Given the description of an element on the screen output the (x, y) to click on. 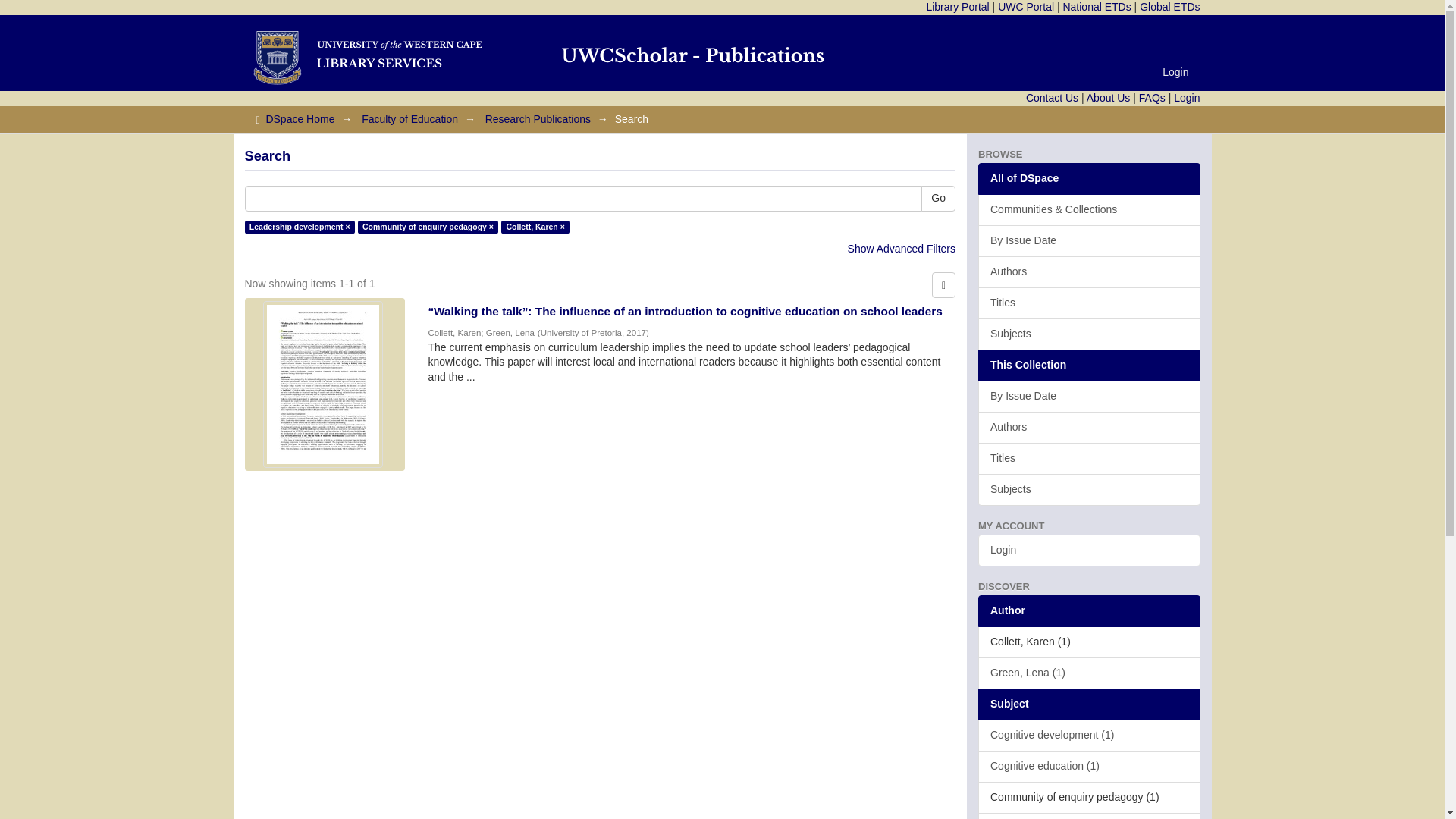
Library Portal (957, 6)
About Us (1108, 97)
National ETDs (1096, 6)
Research Publications (537, 119)
FAQs (1152, 97)
Faculty of Education (409, 119)
Global ETDs (1169, 6)
Show Advanced Filters (901, 248)
UWC Portal (1025, 6)
DSpace Home (299, 119)
